Given the description of an element on the screen output the (x, y) to click on. 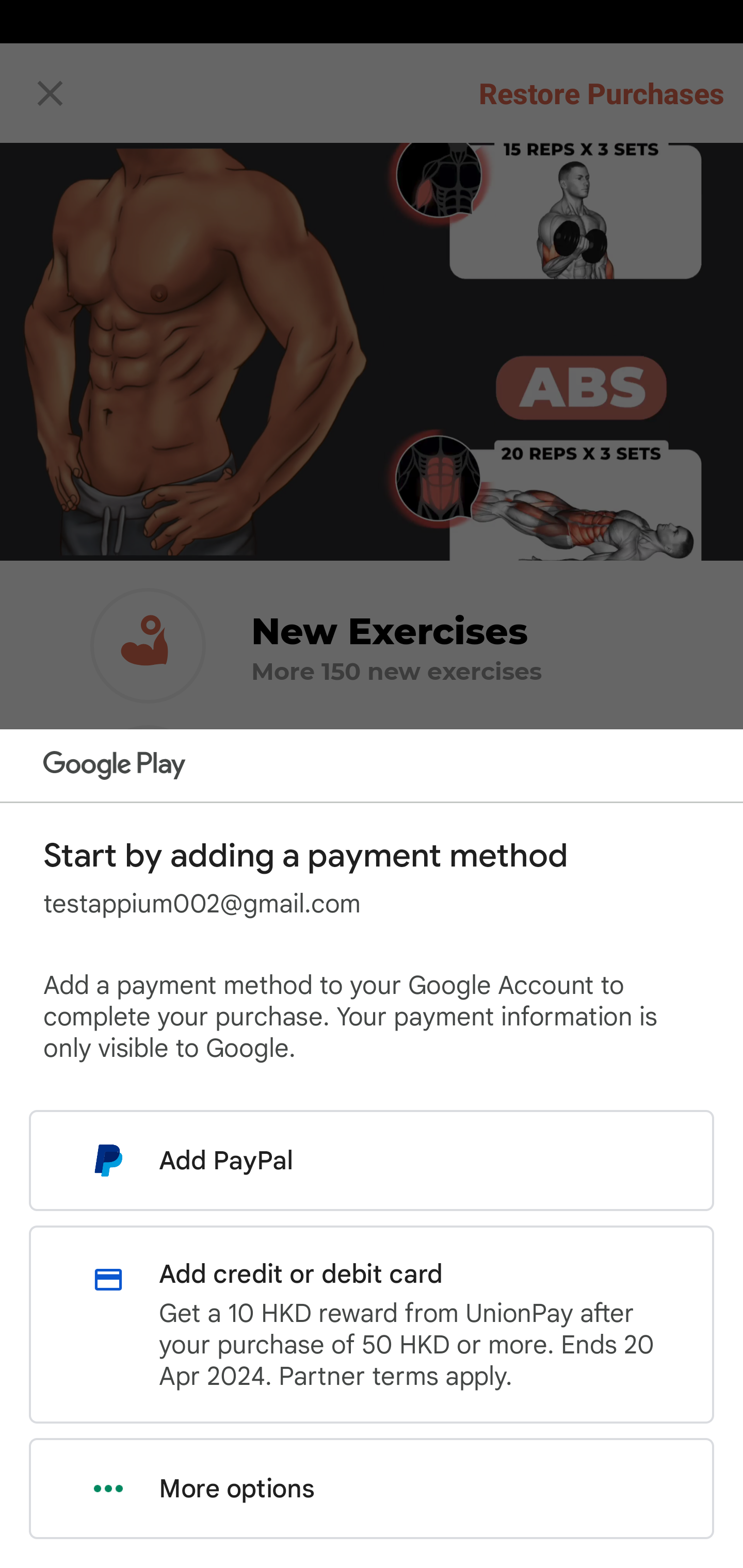
Add PayPal (371, 1160)
More options (371, 1488)
